Given the description of an element on the screen output the (x, y) to click on. 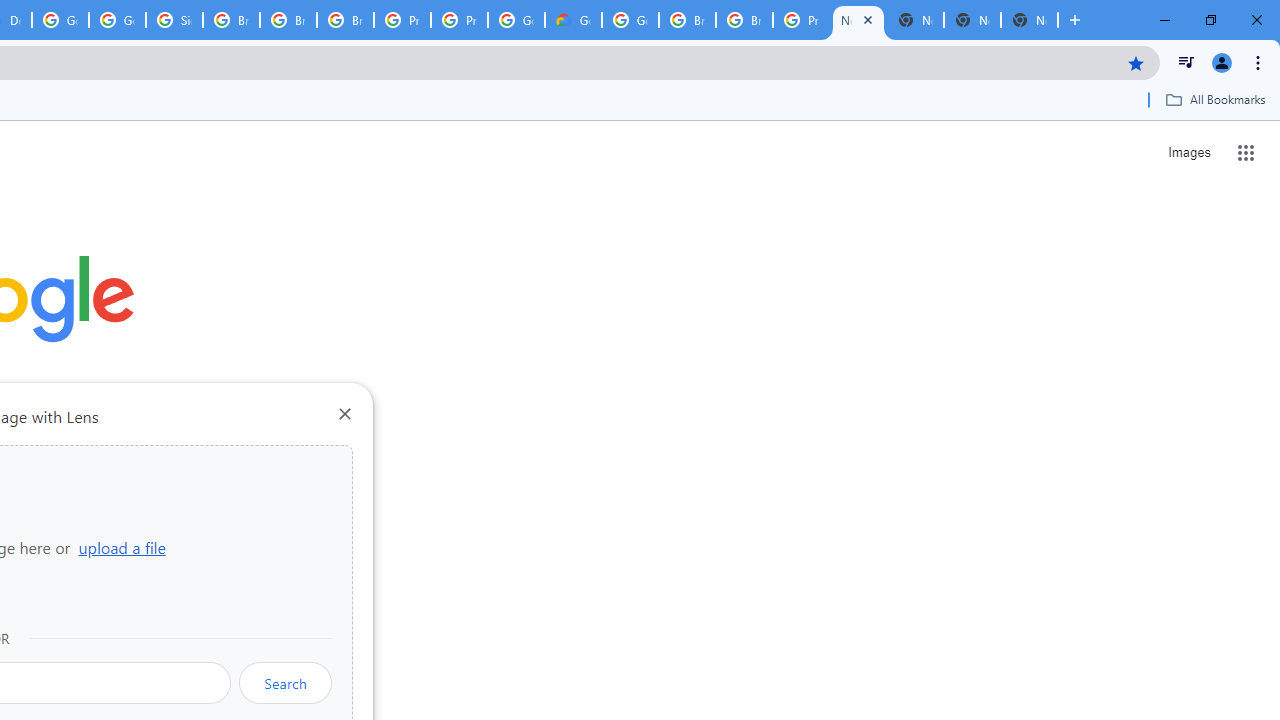
Google Cloud Platform (516, 20)
upload a file (122, 547)
New Tab (858, 20)
New Tab (1029, 20)
